Given the description of an element on the screen output the (x, y) to click on. 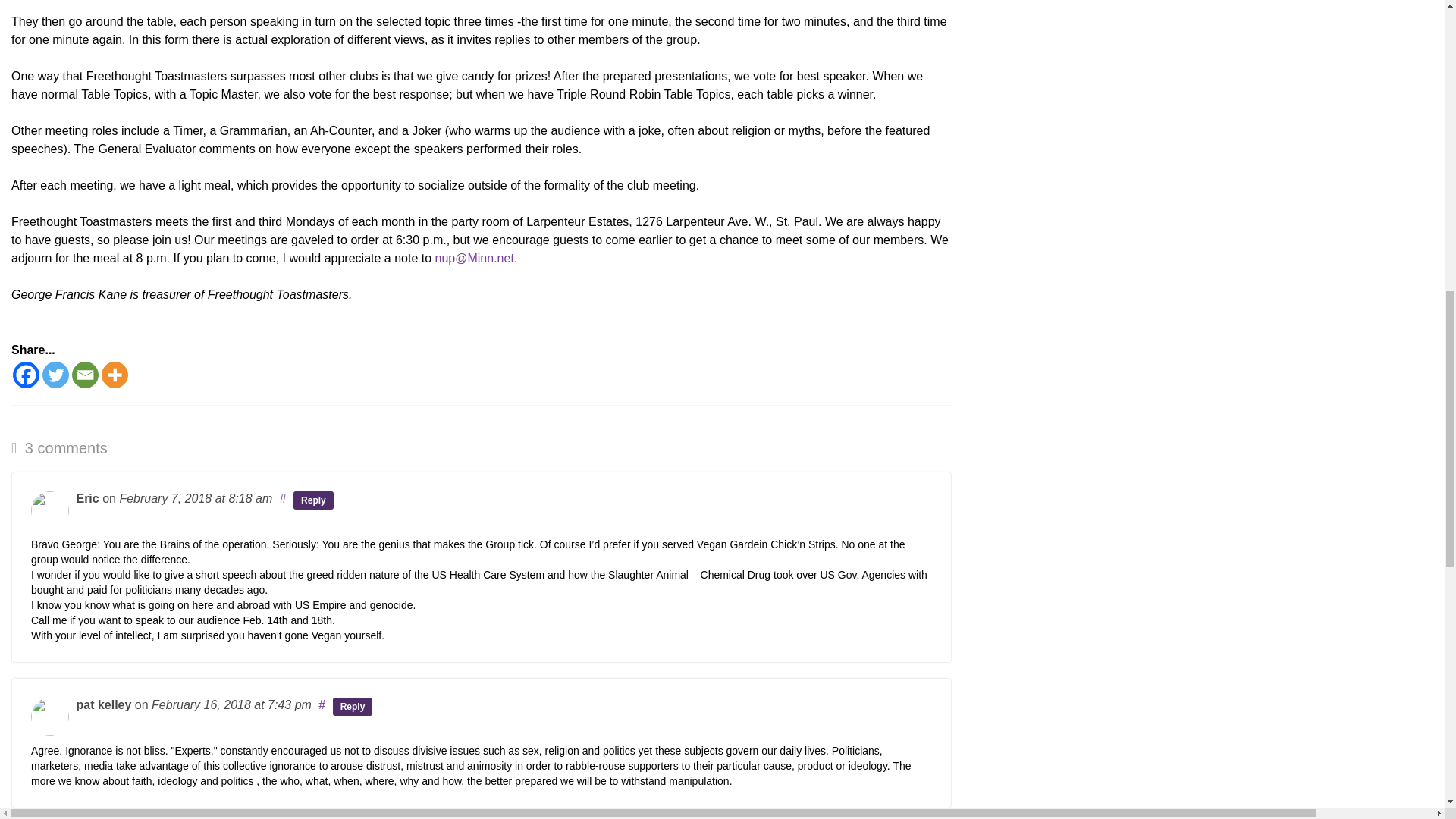
Twitter (55, 374)
Facebook (26, 374)
Email (85, 374)
More (114, 374)
